Given the description of an element on the screen output the (x, y) to click on. 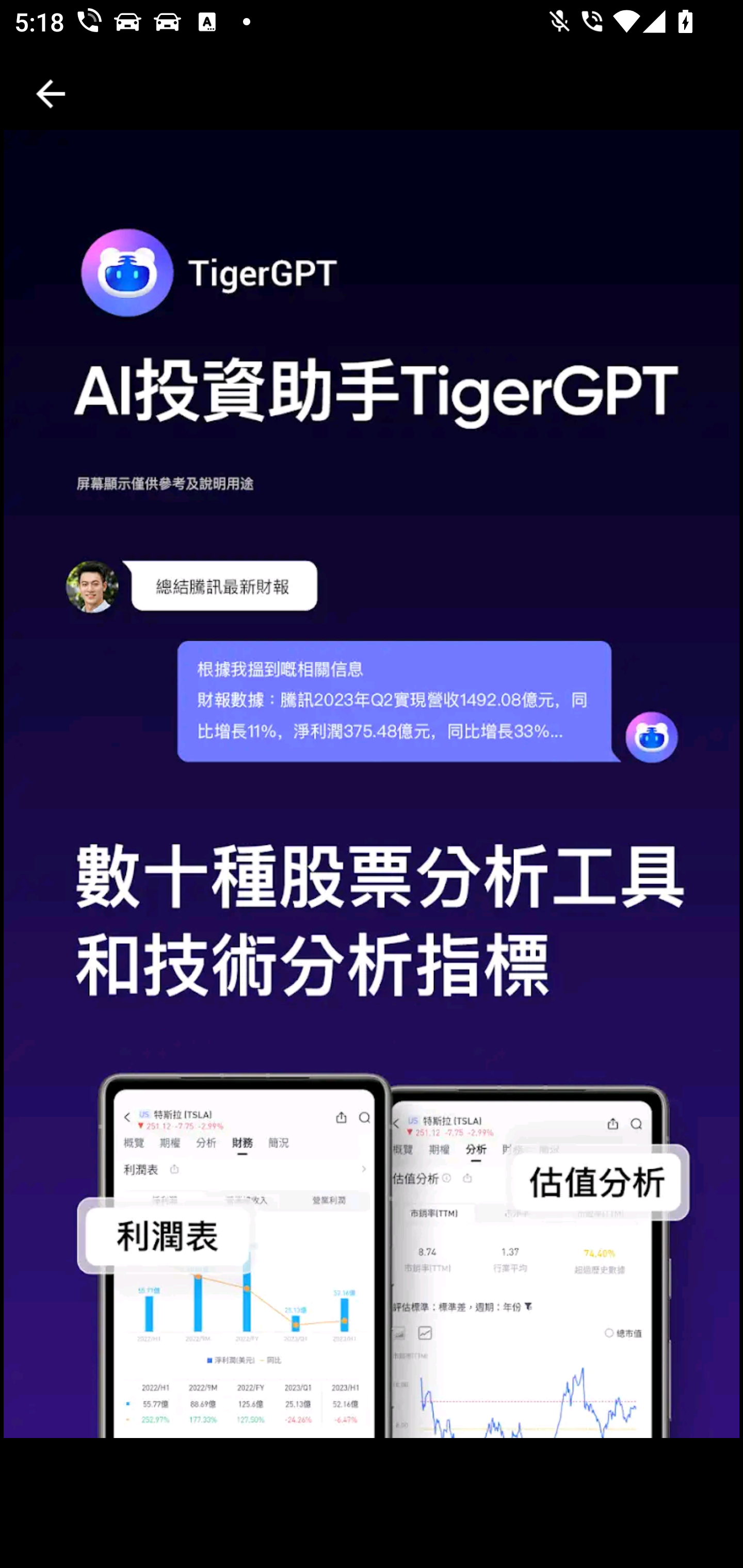
Back (50, 93)
